Given the description of an element on the screen output the (x, y) to click on. 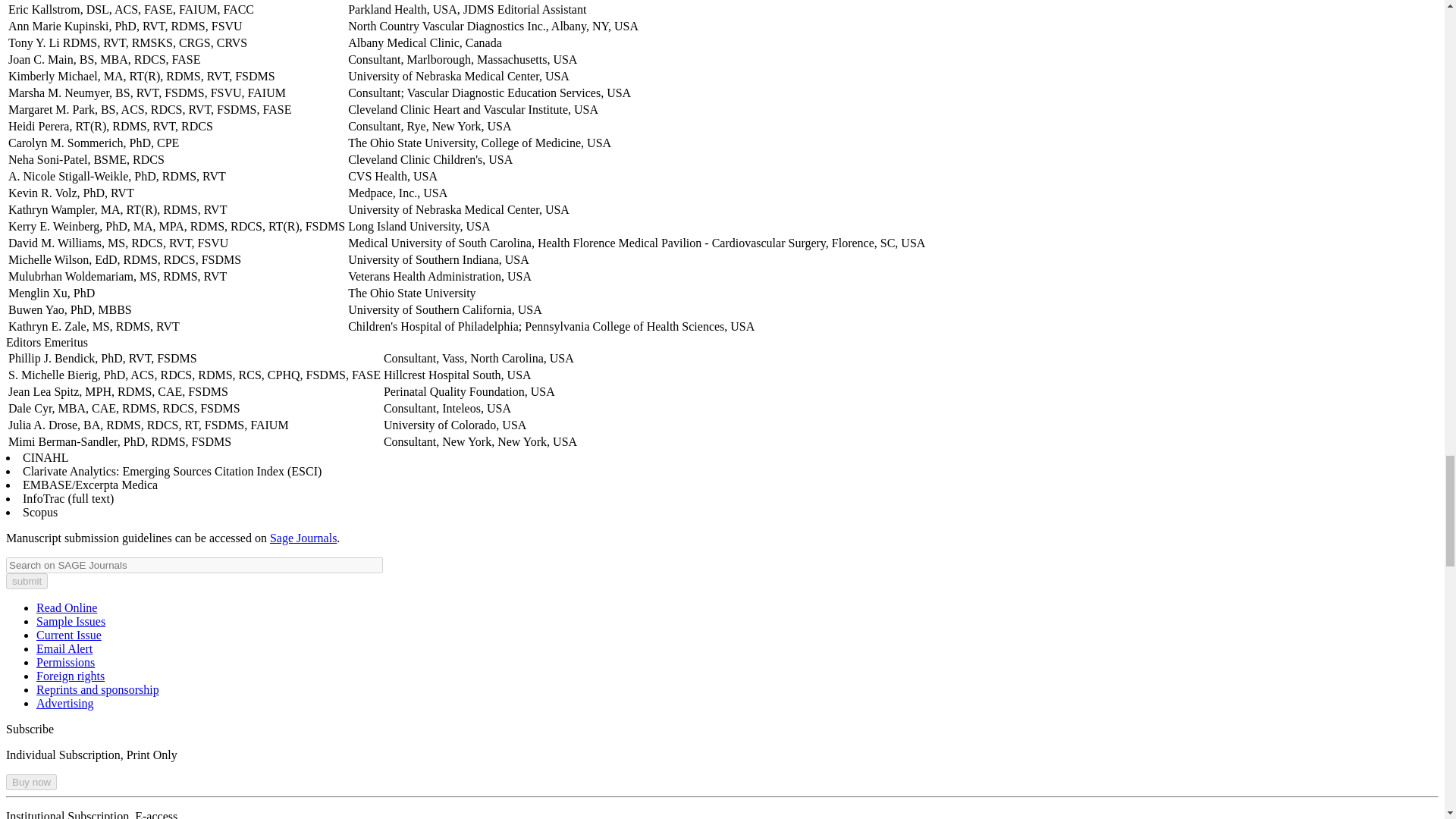
submit (26, 580)
Buy now (30, 781)
